Given the description of an element on the screen output the (x, y) to click on. 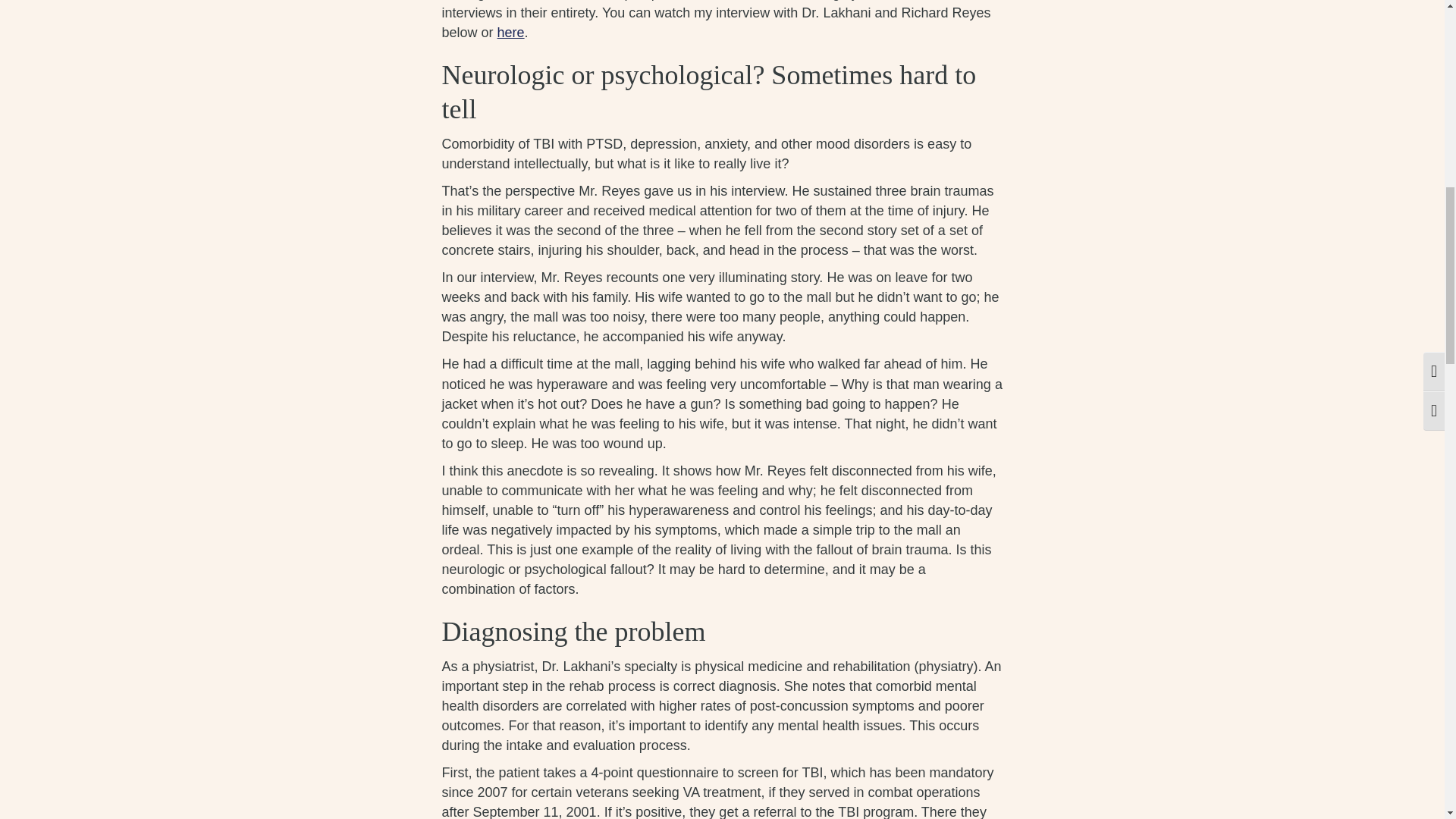
here (510, 32)
